Given the description of an element on the screen output the (x, y) to click on. 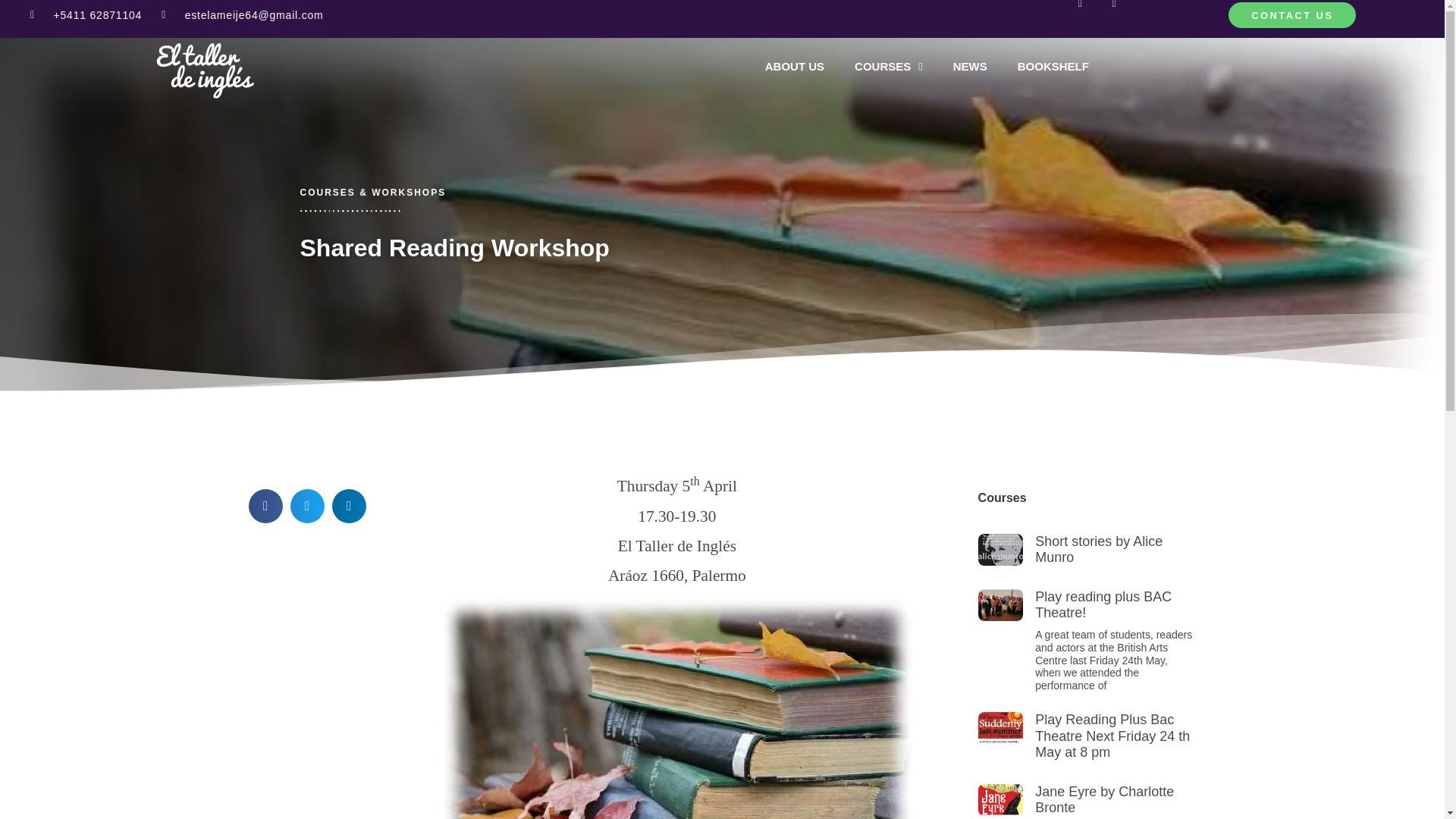
Play Reading Plus Bac Theatre Next Friday 24 th May at 8 pm (1112, 735)
BOOKSHELF (1053, 66)
CONTACT US (1291, 14)
Jane Eyre by Charlotte Bronte (1104, 799)
ABOUT US (794, 66)
NEWS (970, 66)
Play reading plus BAC Theatre! (1103, 604)
COURSES (888, 66)
Short stories by Alice Munro (1098, 549)
